Given the description of an element on the screen output the (x, y) to click on. 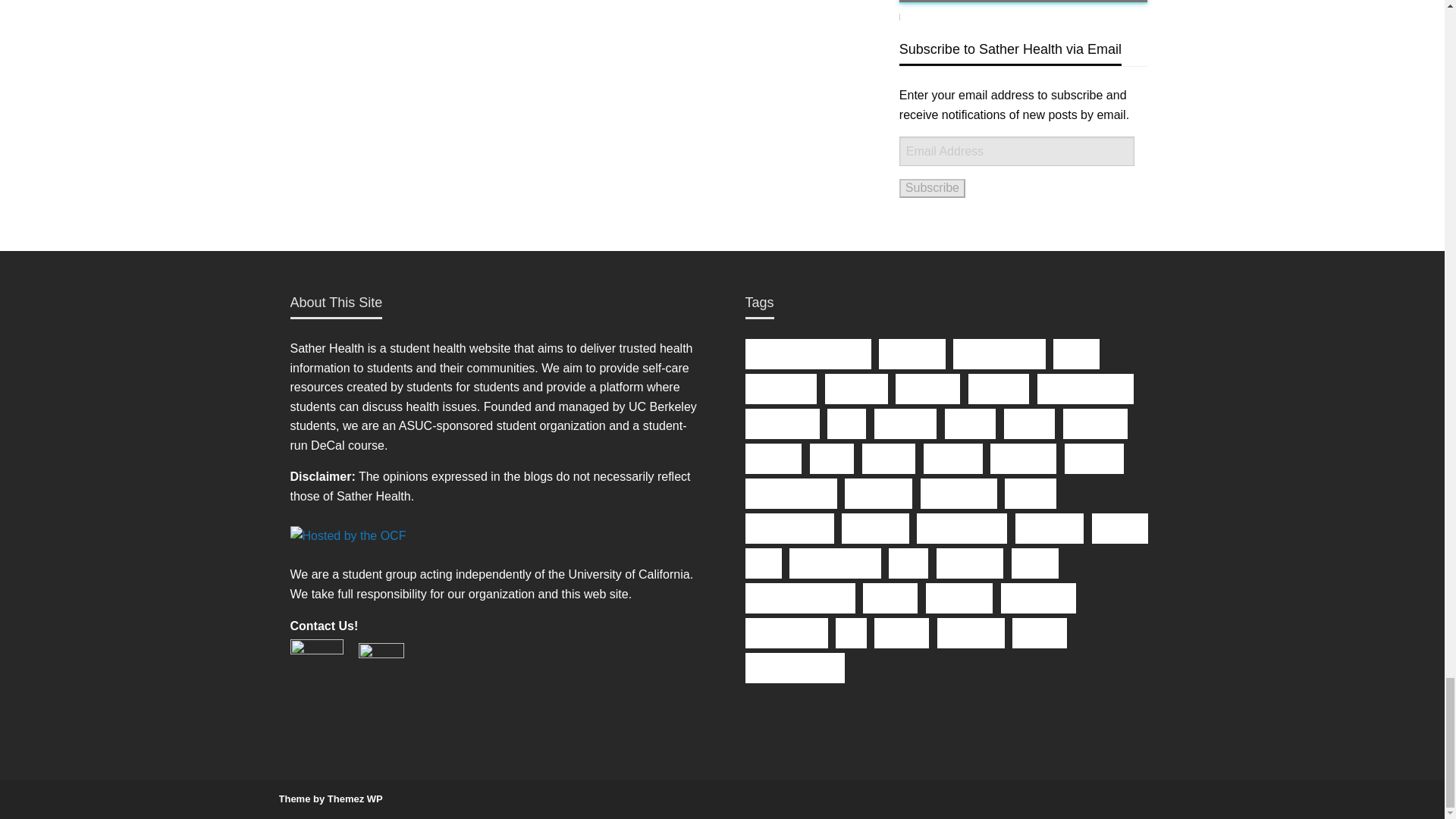
Subscribe (932, 188)
